Given the description of an element on the screen output the (x, y) to click on. 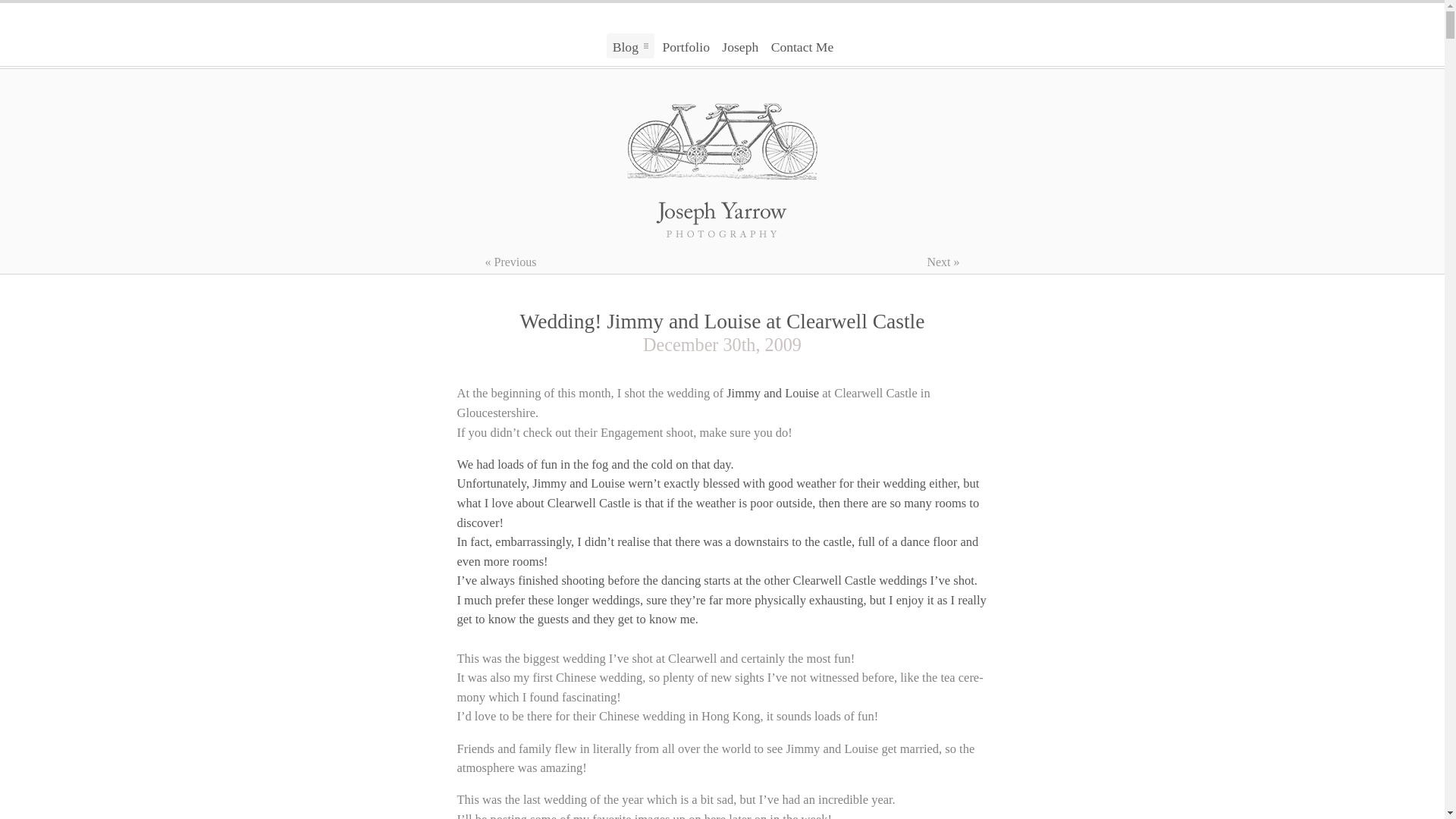
Blog (630, 45)
Portfolio (686, 47)
Joseph Yarrow Photography (721, 169)
Bath Wedding Photographer (772, 392)
Back to the home page (721, 169)
Joseph (739, 47)
Contact Me (802, 47)
